Given the description of an element on the screen output the (x, y) to click on. 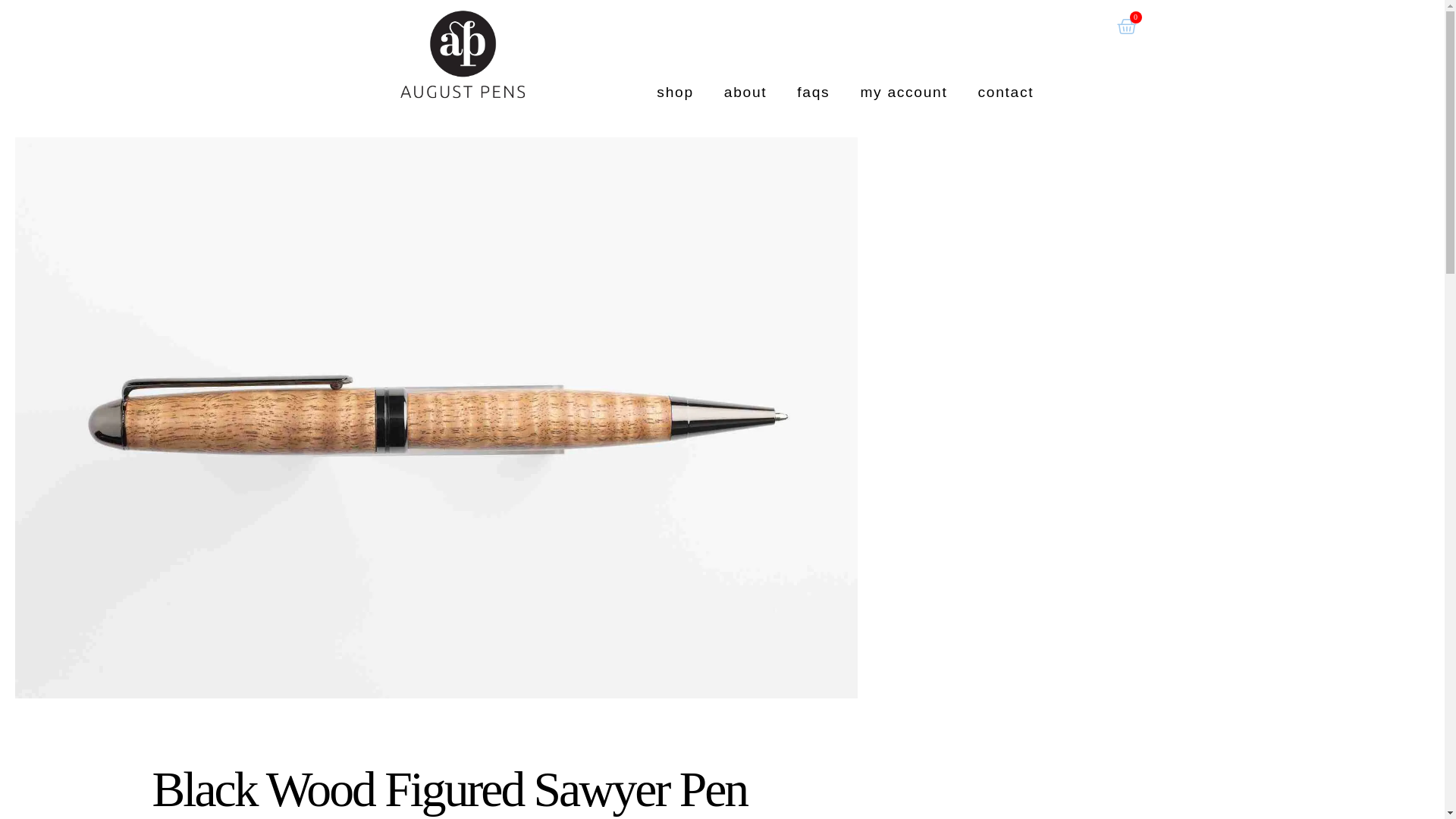
my account (903, 91)
shop (674, 91)
0 (1125, 28)
about (746, 91)
contact (1005, 91)
faqs (812, 91)
